Given the description of an element on the screen output the (x, y) to click on. 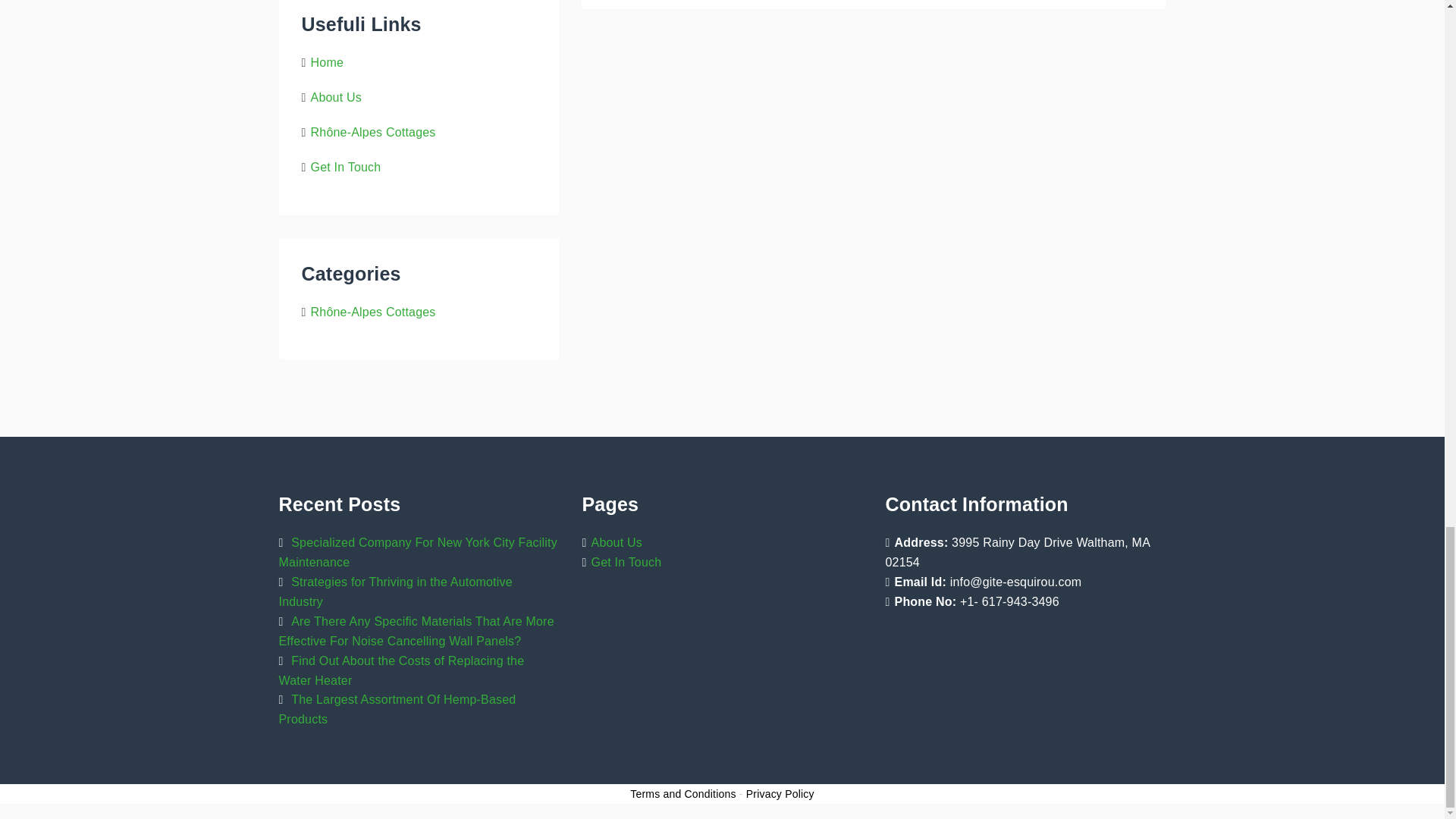
Get In Touch (346, 166)
Specialized Company For New York City Facility Maintenance (418, 552)
Home (327, 62)
About Us (336, 97)
